Given the description of an element on the screen output the (x, y) to click on. 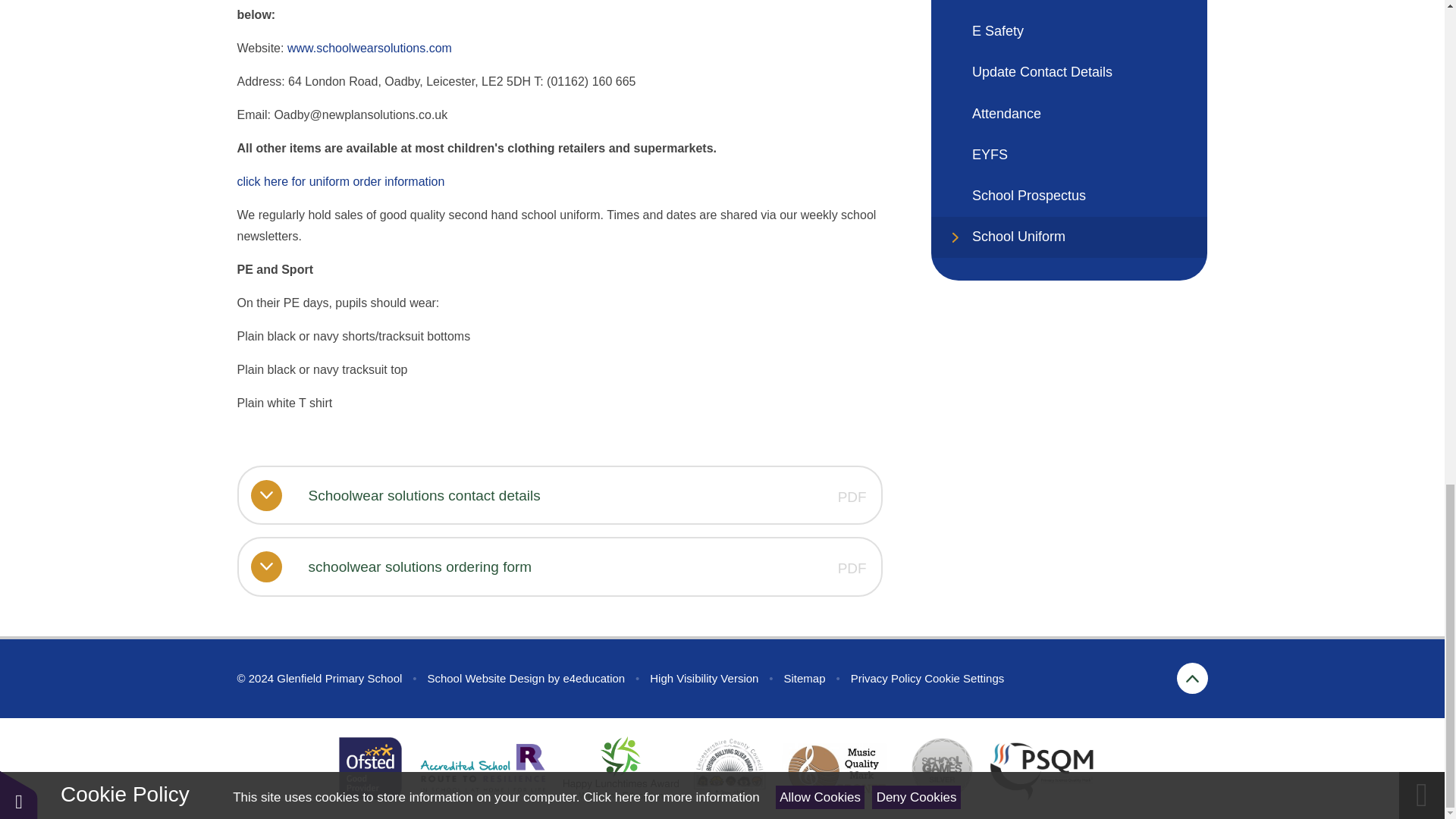
Cookie Settings (964, 677)
